Given the description of an element on the screen output the (x, y) to click on. 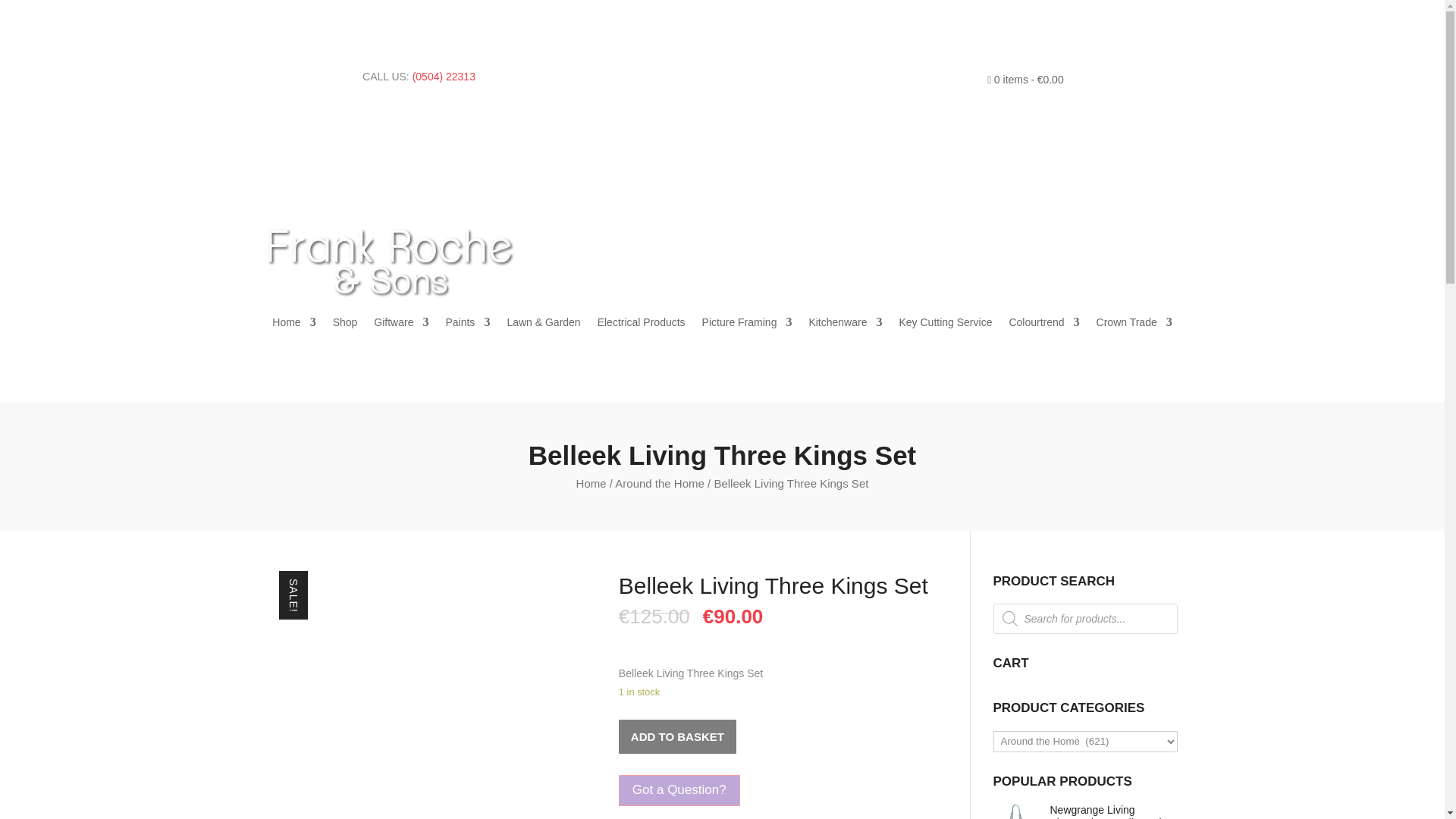
Paints (467, 324)
Logo (389, 263)
Shop (345, 324)
Got a Question? (678, 789)
Home (293, 324)
Start shopping (1024, 83)
Giftware (401, 324)
